Given the description of an element on the screen output the (x, y) to click on. 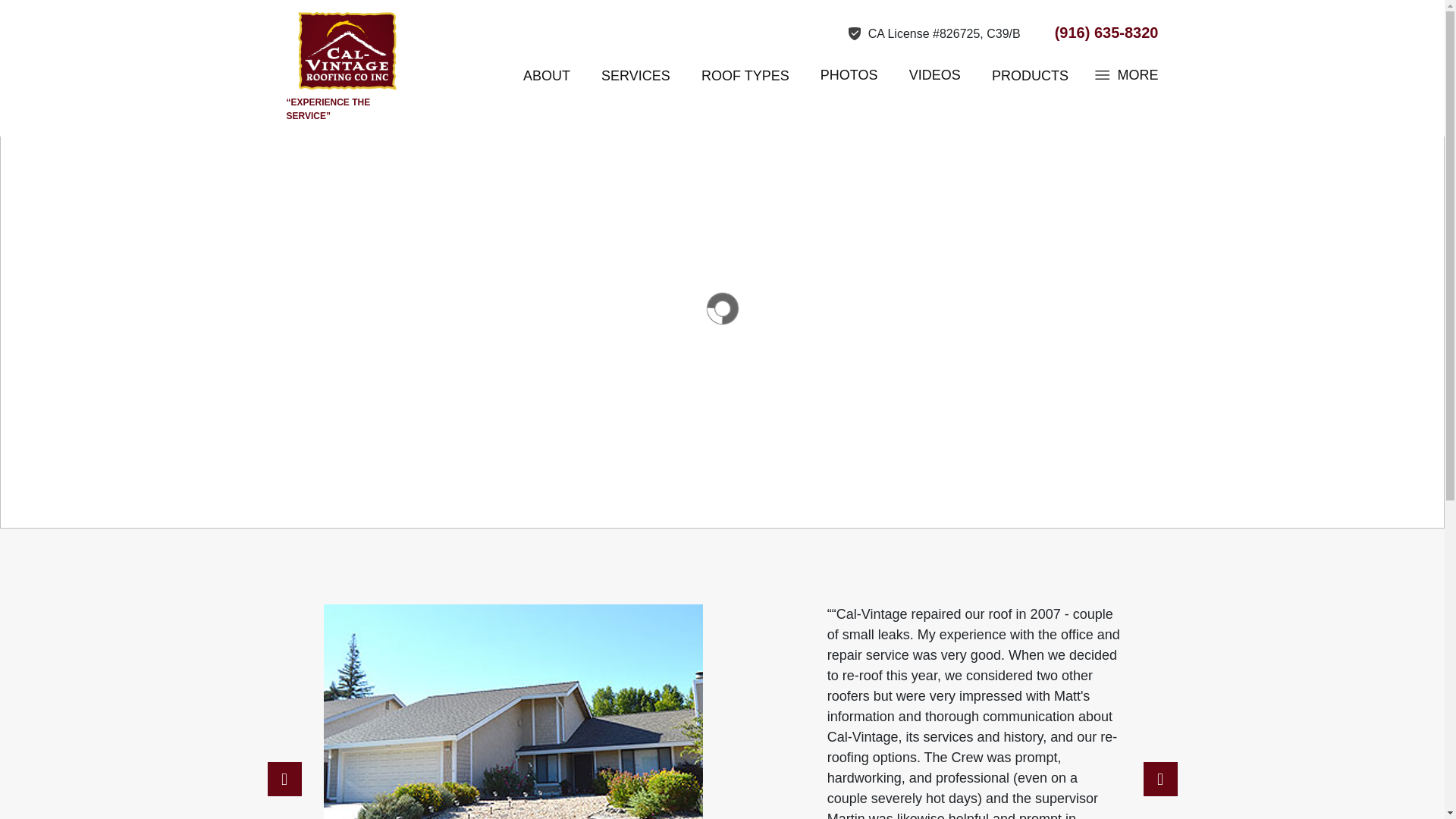
ROOF TYPES (745, 76)
PRODUCTS (1029, 76)
ABOUT (546, 76)
PHOTOS (849, 74)
SERVICES (635, 76)
VIDEOS (934, 74)
